Given the description of an element on the screen output the (x, y) to click on. 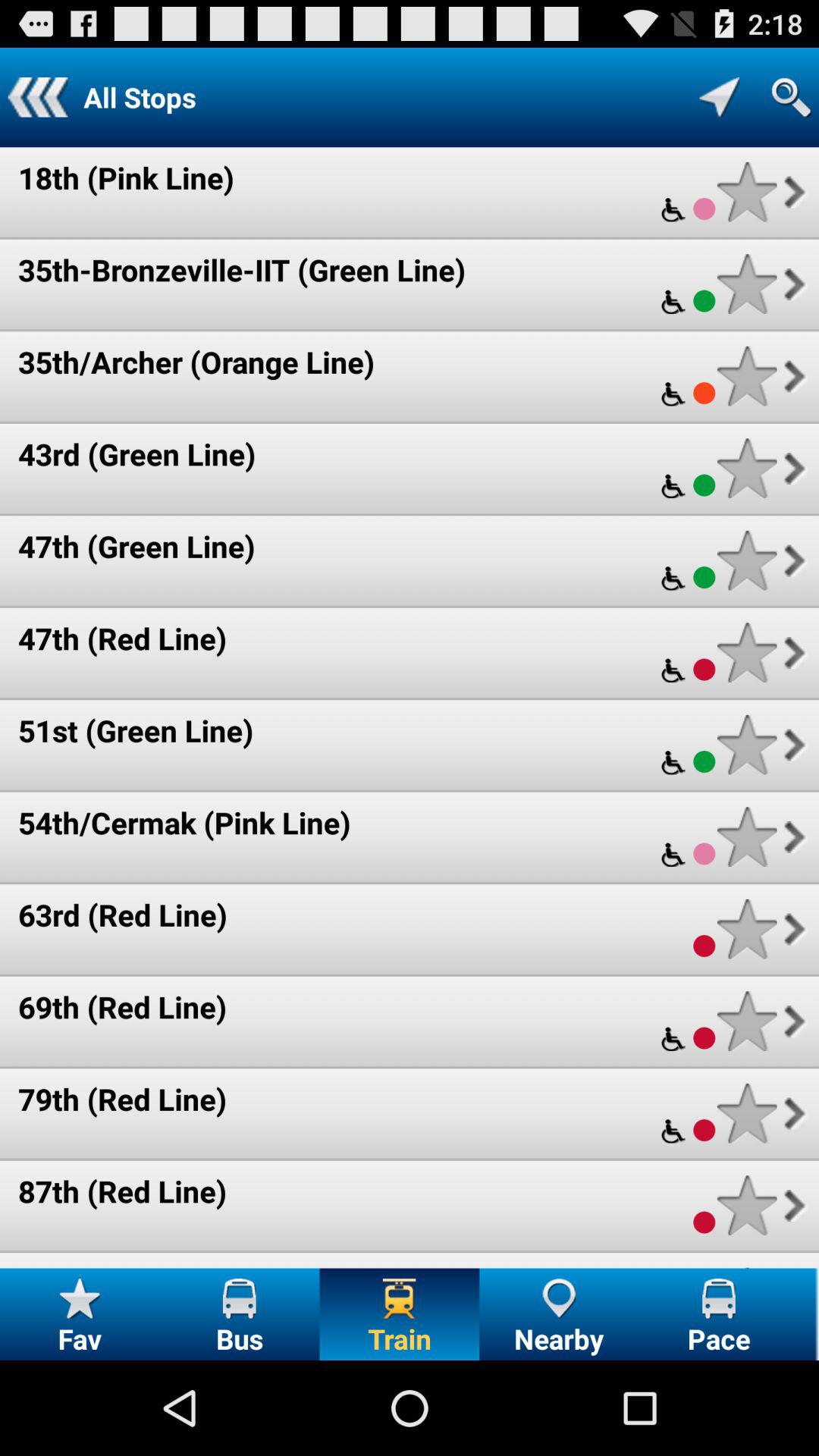
favorite (746, 836)
